Given the description of an element on the screen output the (x, y) to click on. 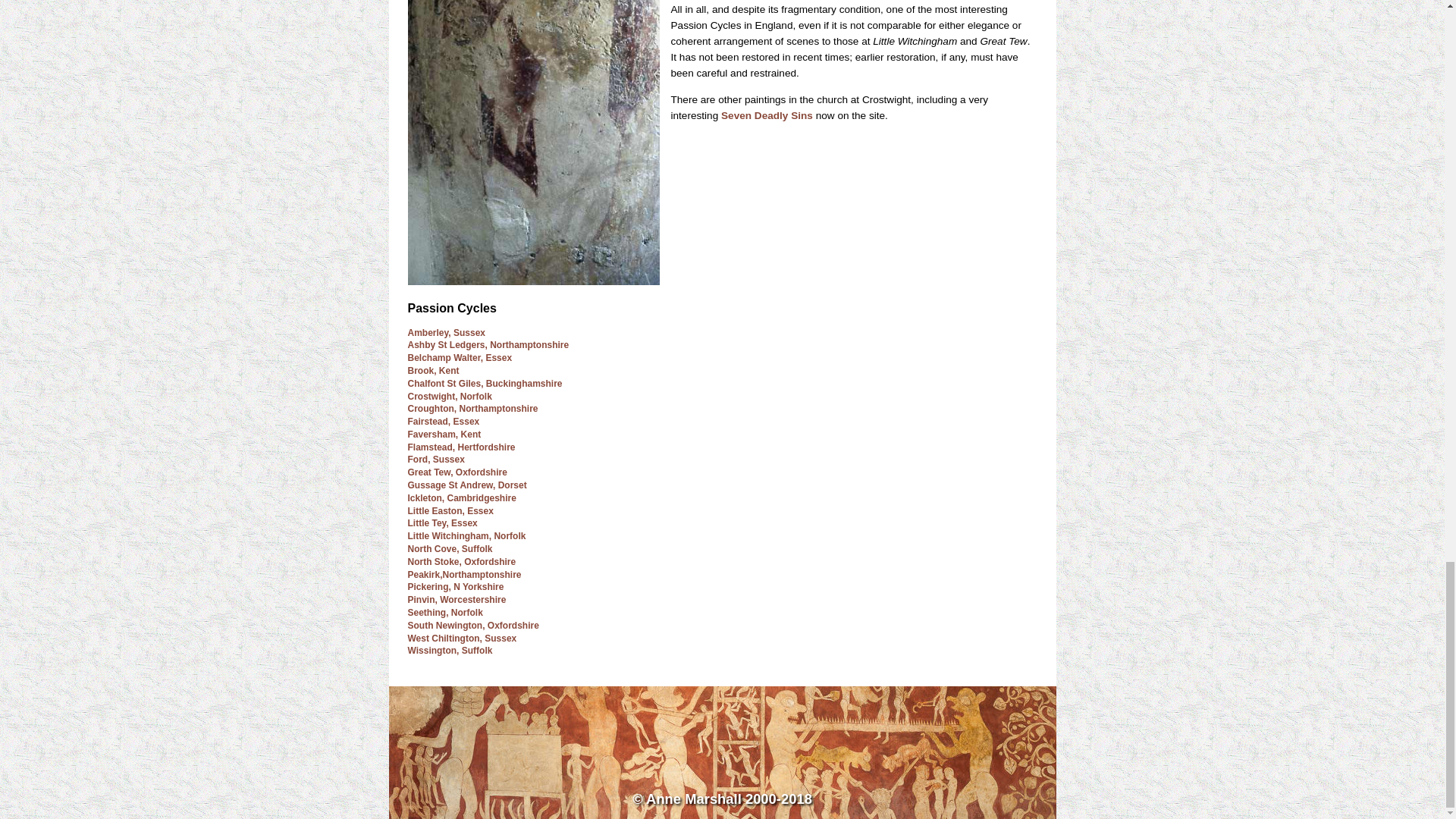
Ashby St Ledgers, Northamptonshire (488, 344)
Belchamp Walter, Essex (459, 357)
Amberley, Sussex (446, 332)
